Given the description of an element on the screen output the (x, y) to click on. 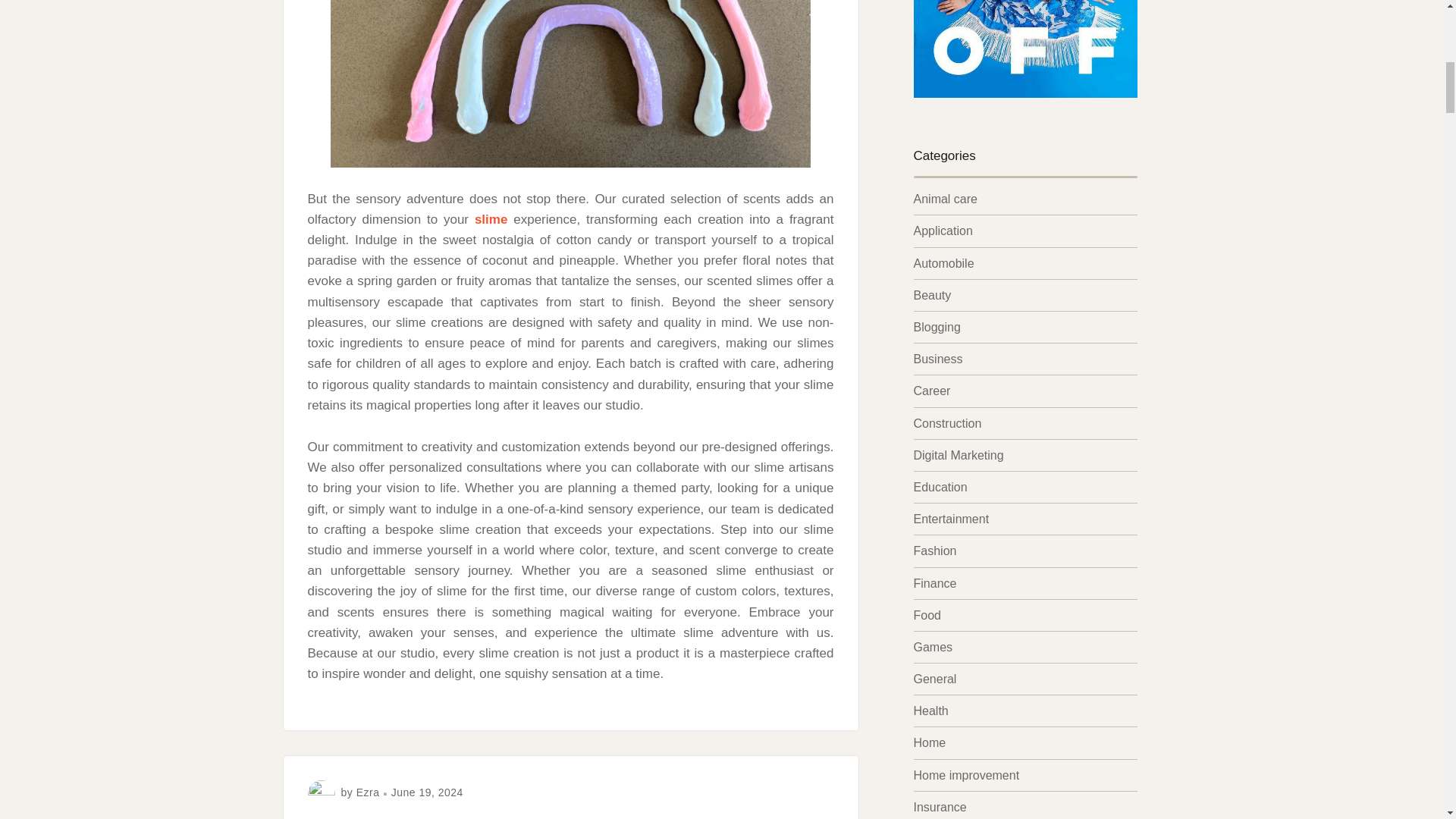
slime (490, 219)
Ezra (368, 792)
June 19, 2024 (427, 792)
